Given the description of an element on the screen output the (x, y) to click on. 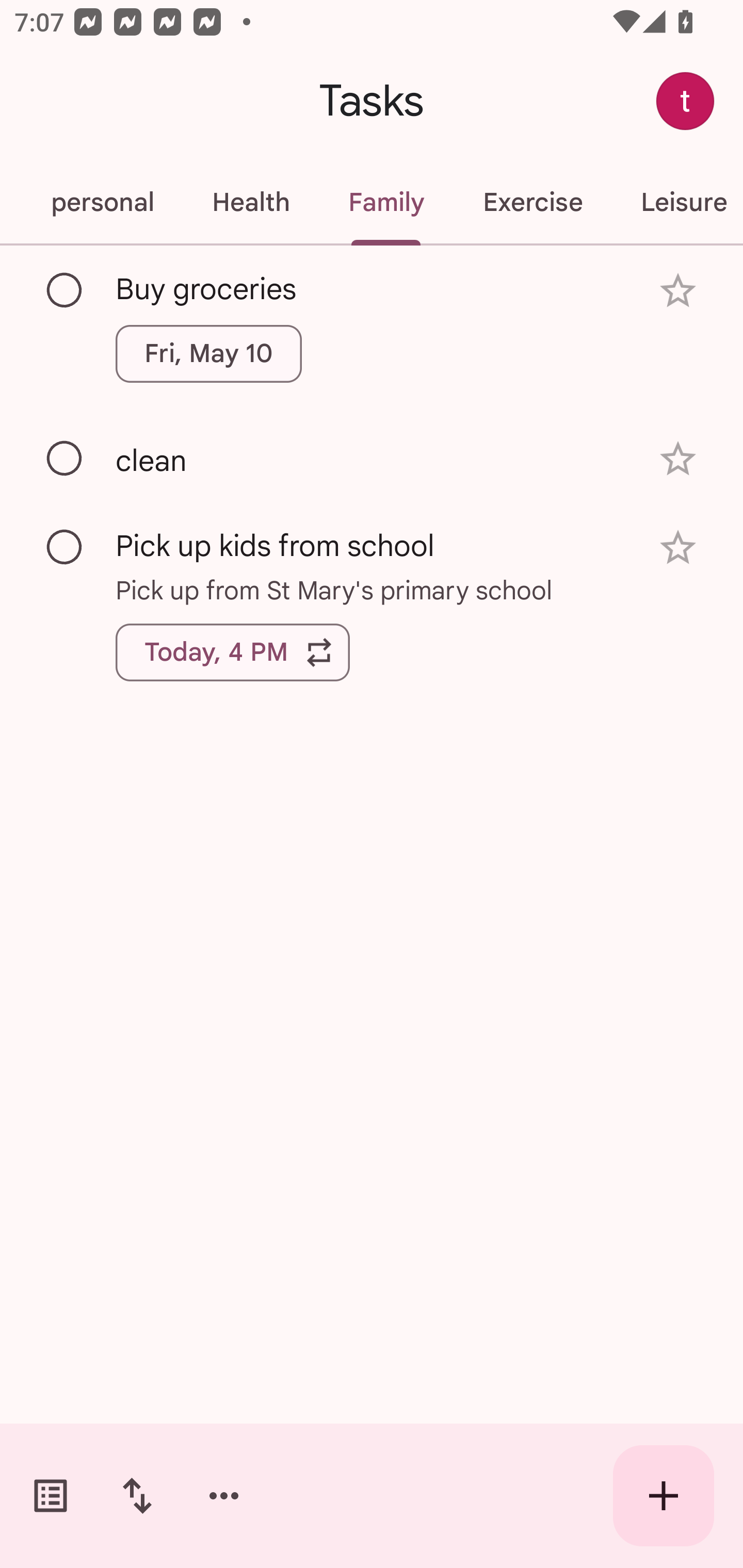
personal (101, 202)
Health (250, 202)
Exercise (532, 202)
Leisure (677, 202)
Add star (677, 290)
Mark as complete (64, 290)
Fri, May 10 (208, 353)
clean clean Add star Mark as complete (371, 457)
Add star (677, 458)
Mark as complete (64, 459)
Add star (677, 547)
Mark as complete (64, 547)
Pick up from St Mary's primary school (371, 589)
Today, 4 PM (232, 652)
Switch task lists (50, 1495)
Create new task (663, 1495)
Change sort order (136, 1495)
More options (223, 1495)
